Given the description of an element on the screen output the (x, y) to click on. 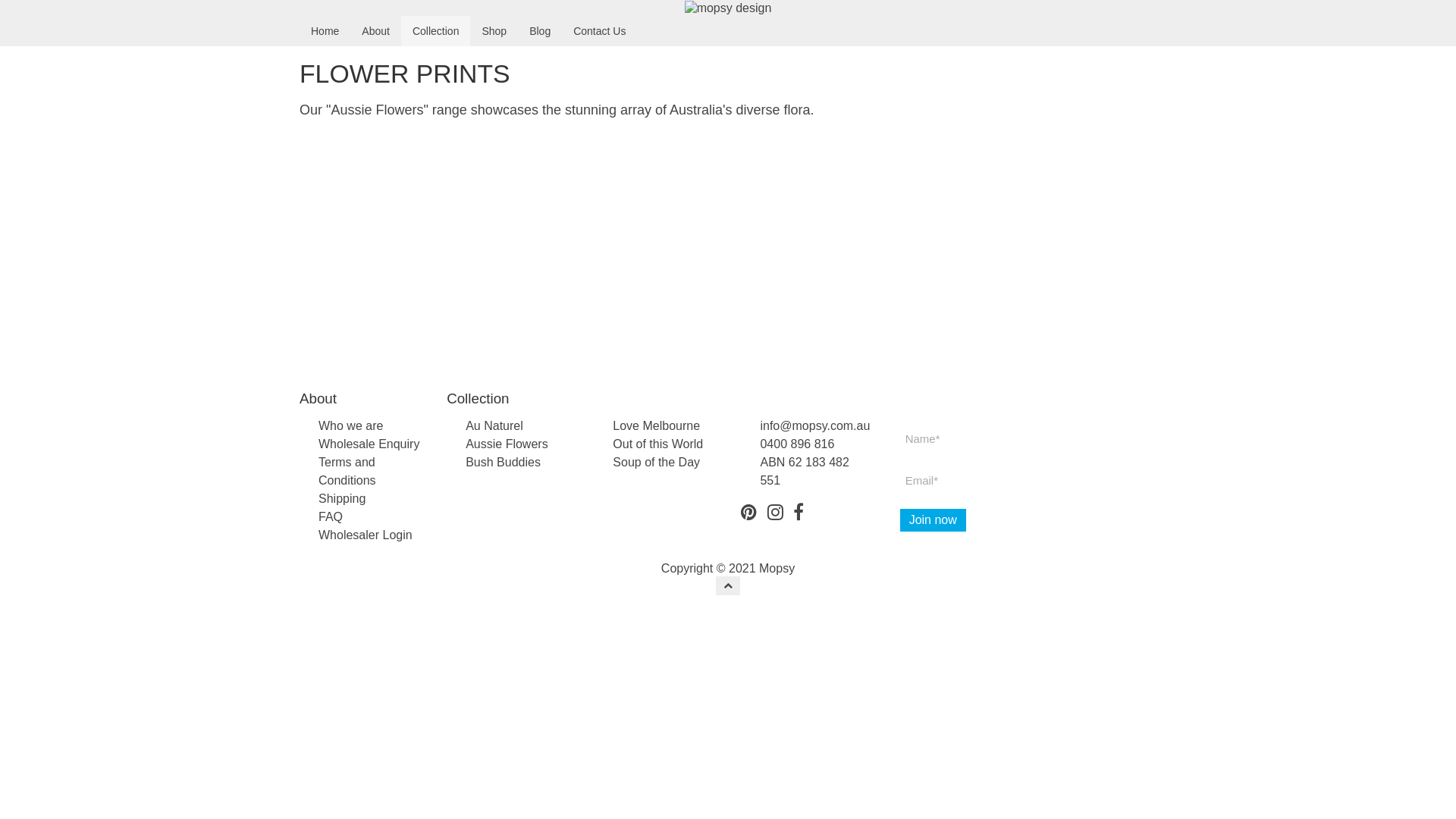
Love Melbourne Element type: text (655, 425)
Shipping Element type: text (341, 498)
Aussie Flowers Element type: text (506, 443)
Collection Element type: text (435, 30)
info@mopsy.com.au Element type: text (814, 425)
Soup of the Day Element type: text (655, 461)
Who we are Element type: text (350, 425)
FAQ Element type: text (330, 516)
About Element type: text (375, 30)
Contact Us Element type: text (599, 30)
Shop Element type: text (493, 30)
Out of this World Element type: text (657, 443)
Au Naturel Element type: text (494, 425)
Blog Element type: text (539, 30)
Bush Buddies Element type: text (502, 461)
Home Element type: text (324, 30)
Join now Element type: text (933, 519)
Terms and Conditions Element type: text (347, 470)
Wholesale Enquiry Element type: text (368, 443)
Wholesaler Login Element type: text (365, 534)
